Given the description of an element on the screen output the (x, y) to click on. 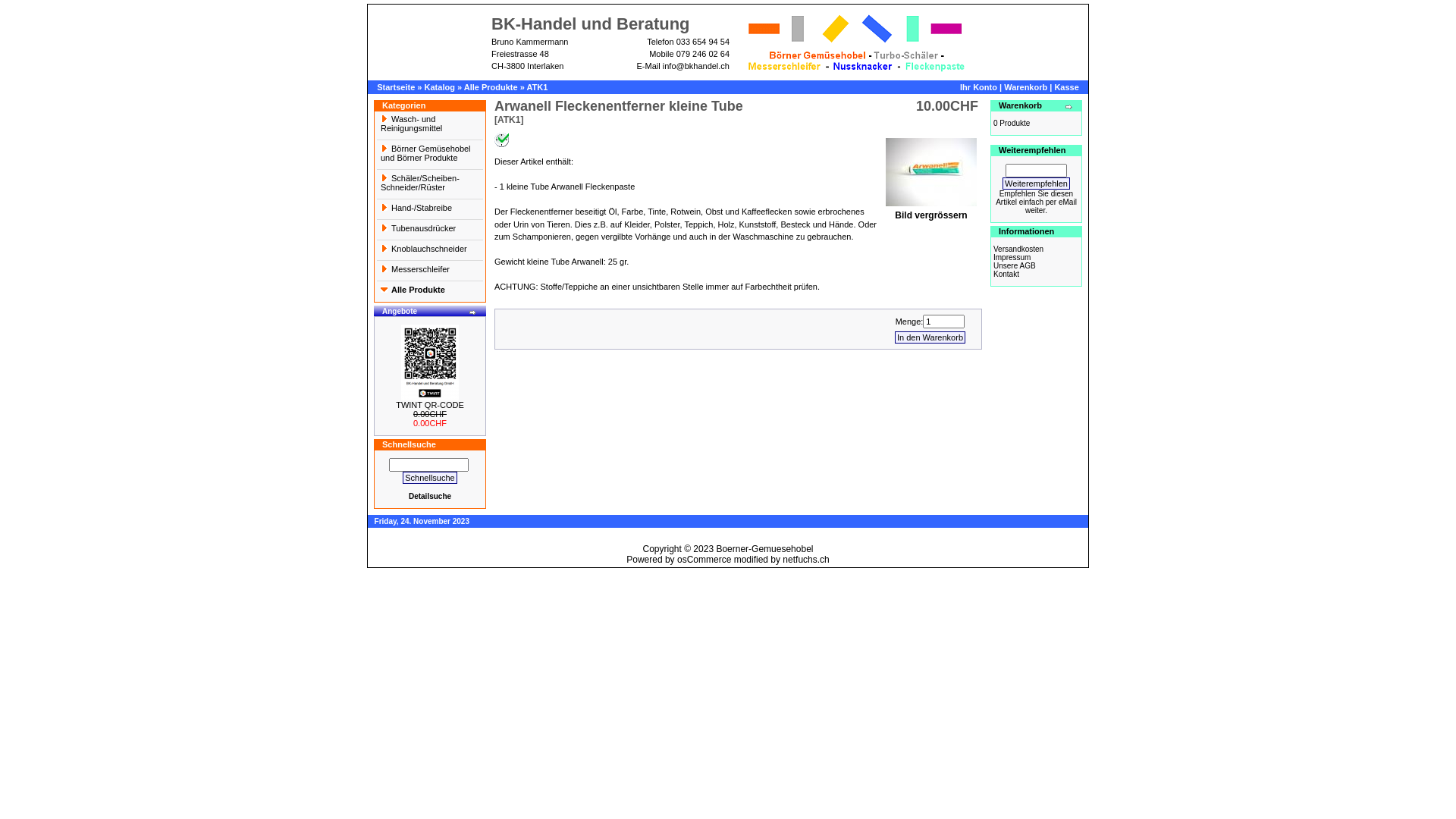
Katalog Element type: text (439, 86)
 Zeige mehr  Element type: hover (1068, 106)
Knoblauchschneider Element type: text (429, 249)
Boerner-Gemuesehobel Element type: text (763, 548)
Kontakt Element type: text (1006, 273)
Warenkorb Element type: text (1025, 86)
Startseite Element type: text (395, 86)
Alle Produkte Element type: text (429, 290)
Impressum Element type: text (1011, 257)
Ihr Konto Element type: text (978, 86)
Kasse Element type: text (1066, 86)
Schnellsuche Element type: text (429, 477)
Unsere AGB Element type: text (1014, 265)
TWINT QR-CODE Element type: text (429, 404)
Alle Produkte Element type: text (490, 86)
Messerschleifer Element type: text (429, 270)
Versandkosten Element type: text (1018, 248)
In den Warenkorb Element type: text (929, 336)
Detailsuche Element type: text (429, 496)
netfuchs.ch Element type: text (805, 559)
Wasch- und Reinigungsmittel Element type: text (429, 125)
osCommerce Element type: text (704, 559)
info@bkhandel.ch Element type: text (695, 65)
 Zeige mehr  Element type: hover (472, 312)
Weiterempfehlen Element type: text (1036, 183)
ATK1 Element type: text (536, 86)
 Arwanell Fleckenentferner kleine Tube  Element type: hover (930, 172)
Hand-/Stabreibe Element type: text (429, 208)
 TWINT QR-CODE  Element type: hover (429, 362)
